Given the description of an element on the screen output the (x, y) to click on. 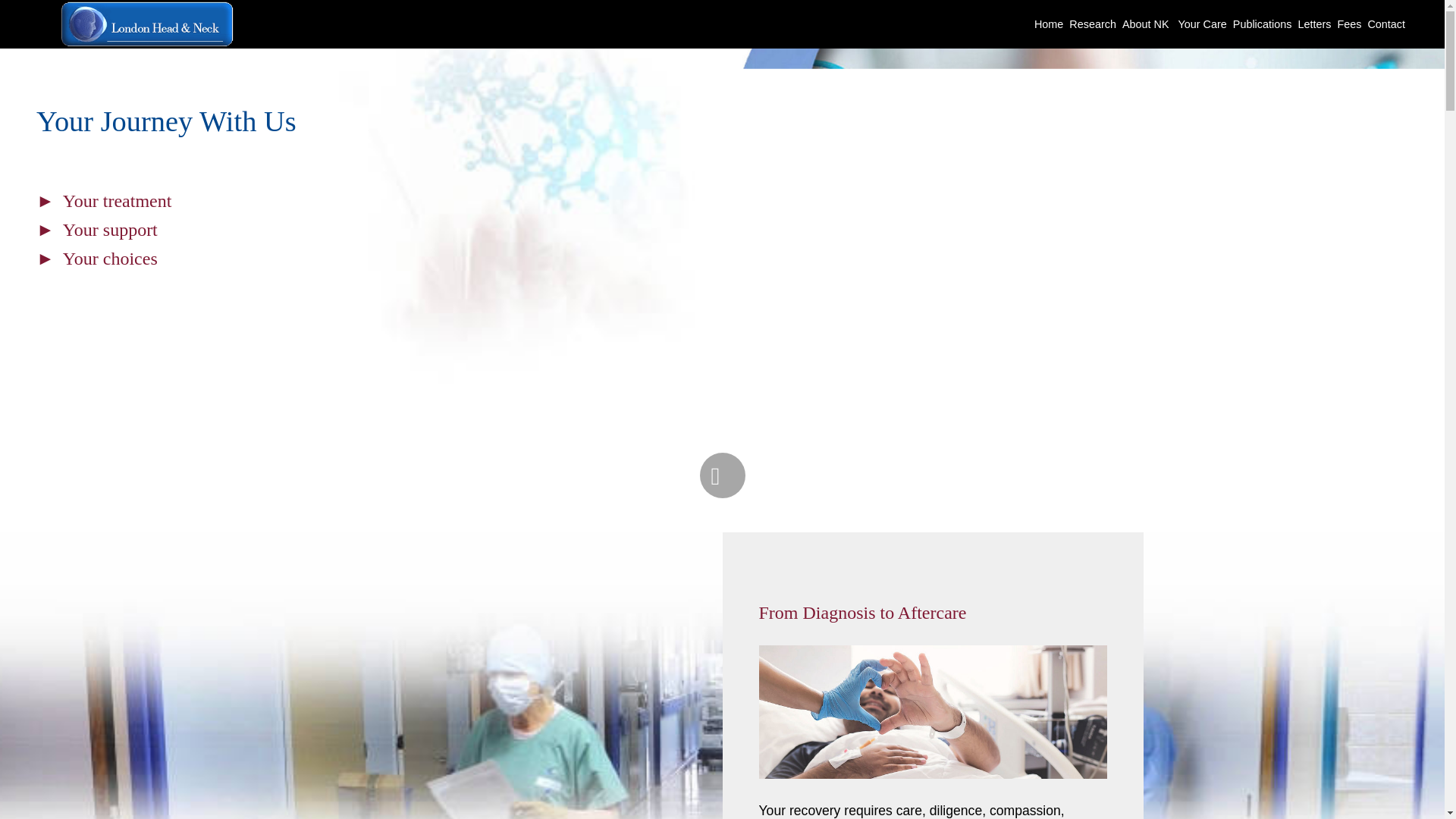
Contact (1386, 23)
About NK  (1147, 23)
Home (1047, 23)
Publications (1262, 23)
Letters (1313, 23)
Fees (1348, 23)
Research (1092, 23)
Your Care (1202, 23)
